Given the description of an element on the screen output the (x, y) to click on. 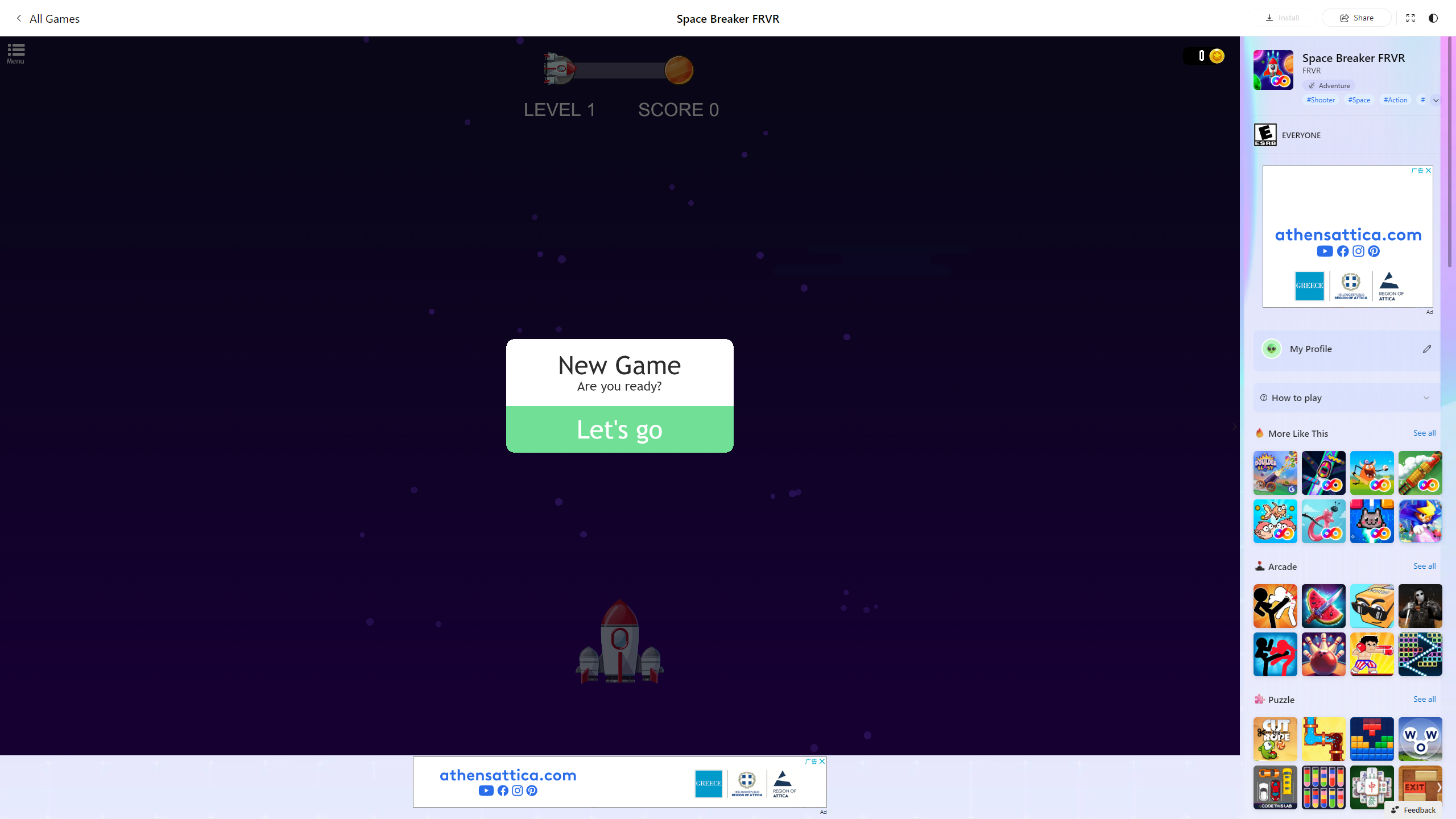
AutomationID: cbb (1427, 170)
Class: control (1436, 99)
Words of Wonders (1420, 738)
Adventure (1329, 85)
EXIT : unblock red wood block (1420, 787)
Arcade (1259, 565)
AutomationID: gameCanvas (620, 395)
Advertisement (1347, 236)
Class: button edit-icon (1427, 347)
Exit full screen (1410, 17)
Bumper Car FRVR (1324, 472)
